Given the description of an element on the screen output the (x, y) to click on. 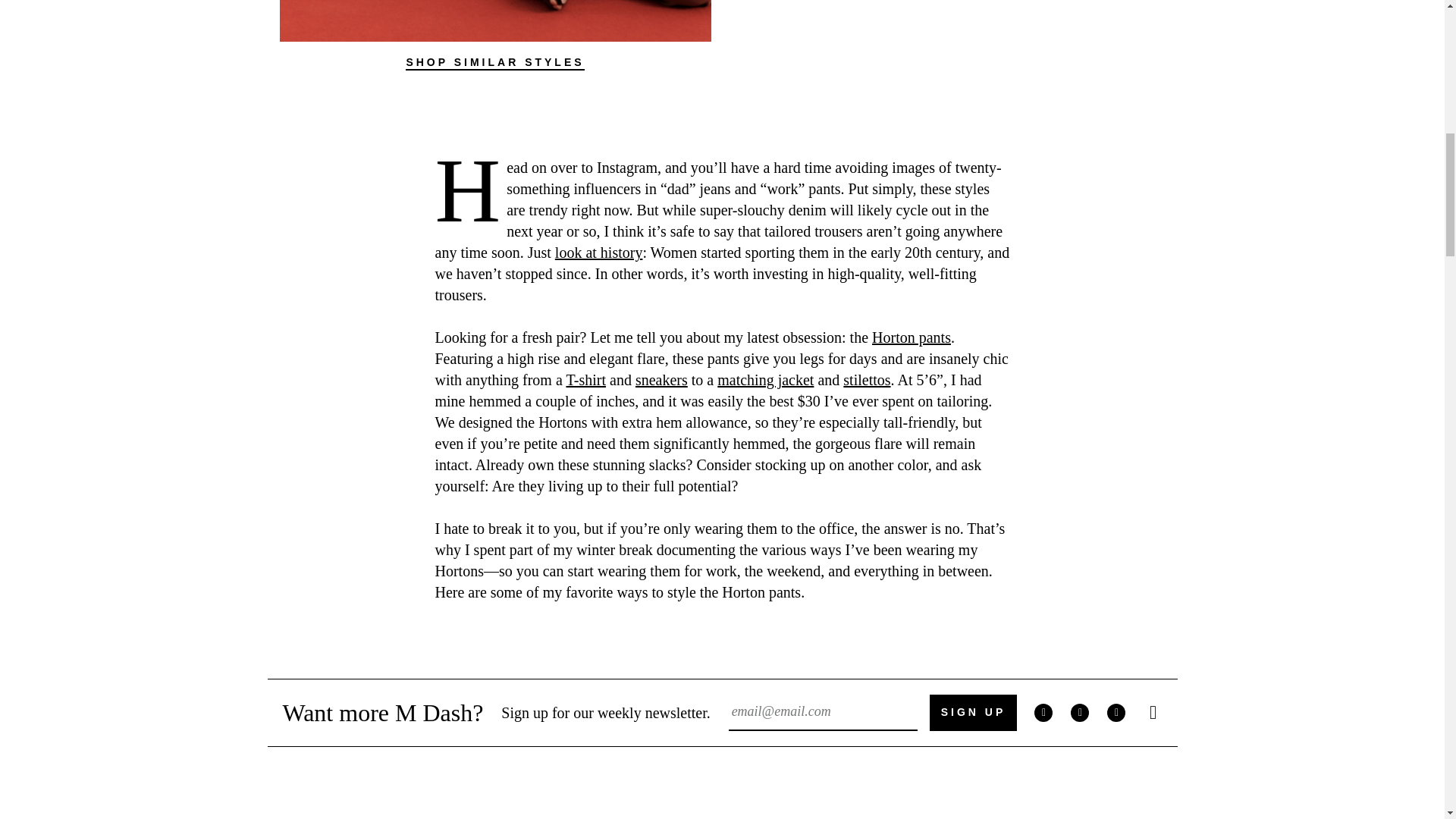
Share via Email (1151, 712)
Share on Twitter (1079, 712)
Share on Facebook (1042, 712)
Share on LinkedIn (1115, 712)
